Given the description of an element on the screen output the (x, y) to click on. 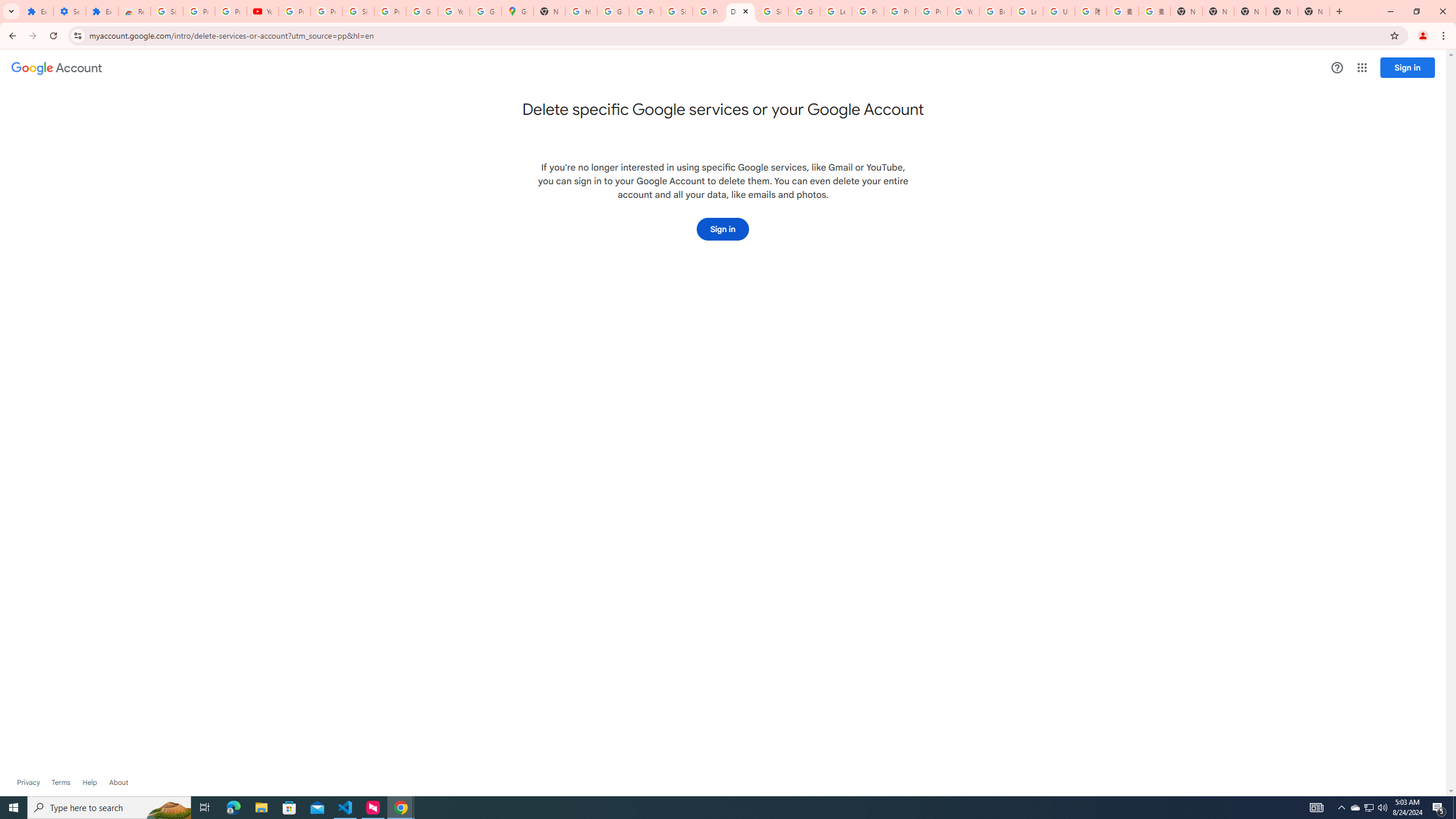
https://scholar.google.com/ (581, 11)
Privacy Help Center - Policies Help (899, 11)
YouTube (963, 11)
Delete specific Google services or your Google Account (740, 11)
YouTube (453, 11)
View site information (77, 35)
Sign in (723, 229)
